Given the description of an element on the screen output the (x, y) to click on. 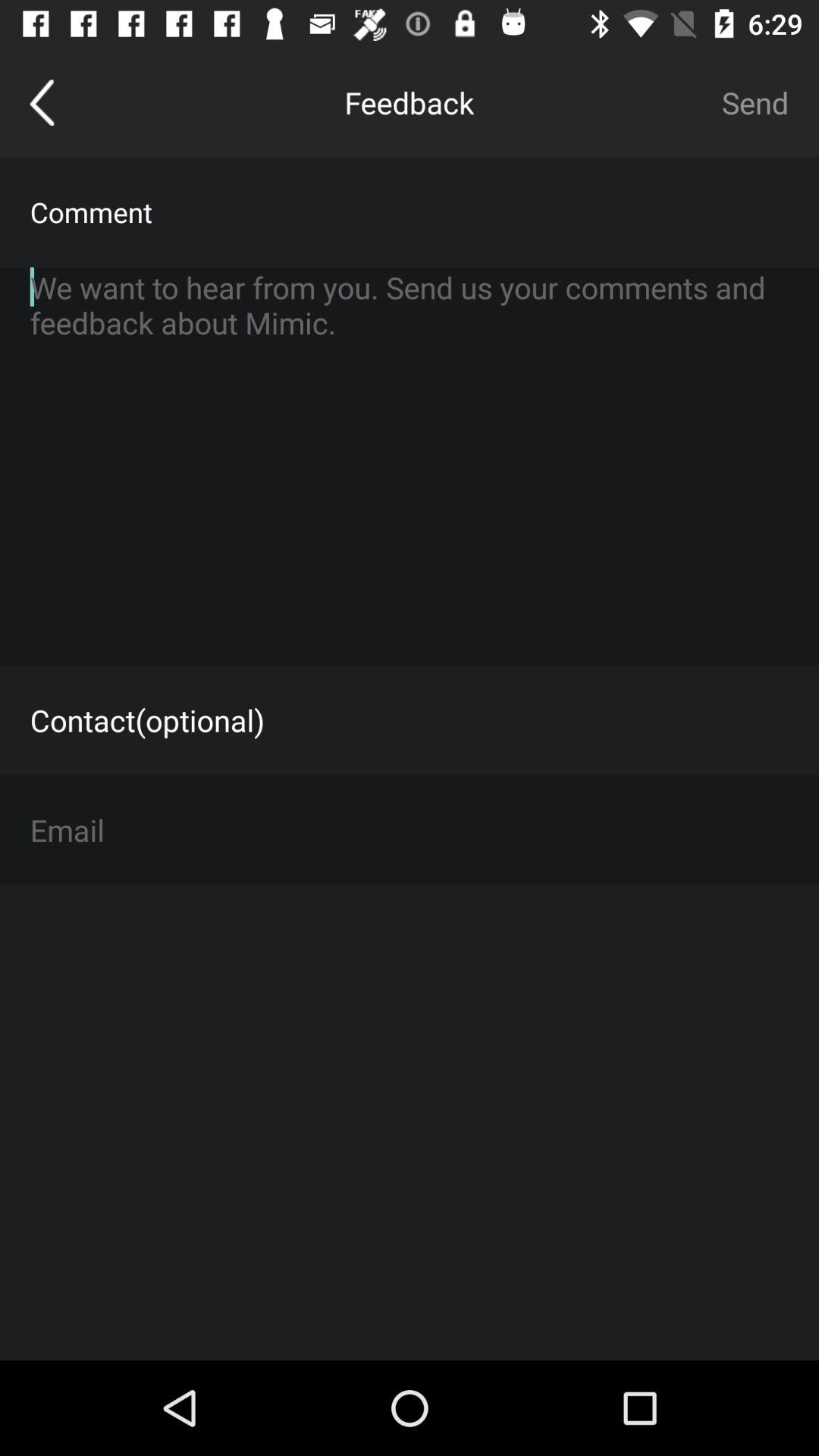
enter comments (409, 466)
